Given the description of an element on the screen output the (x, y) to click on. 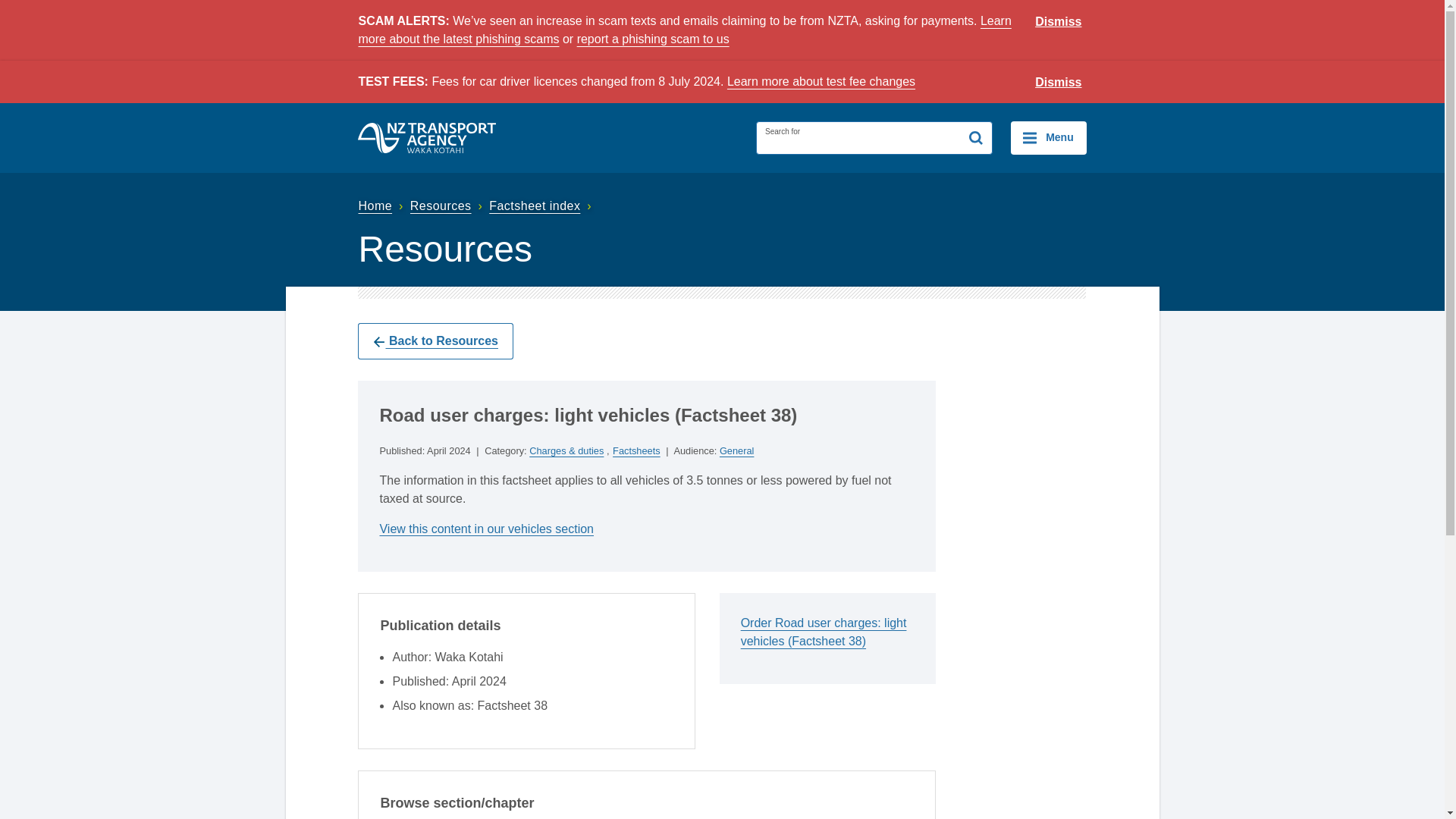
Learn more about the latest phishing scams (684, 29)
NZ Transport Agency Waka Kotahi (427, 137)
Dismiss (1058, 21)
Dismiss (1058, 82)
Home (382, 205)
report a phishing scam to us (652, 38)
Menu (1048, 137)
Learn more about test fee changes (820, 81)
Road user charges (486, 528)
